Given the description of an element on the screen output the (x, y) to click on. 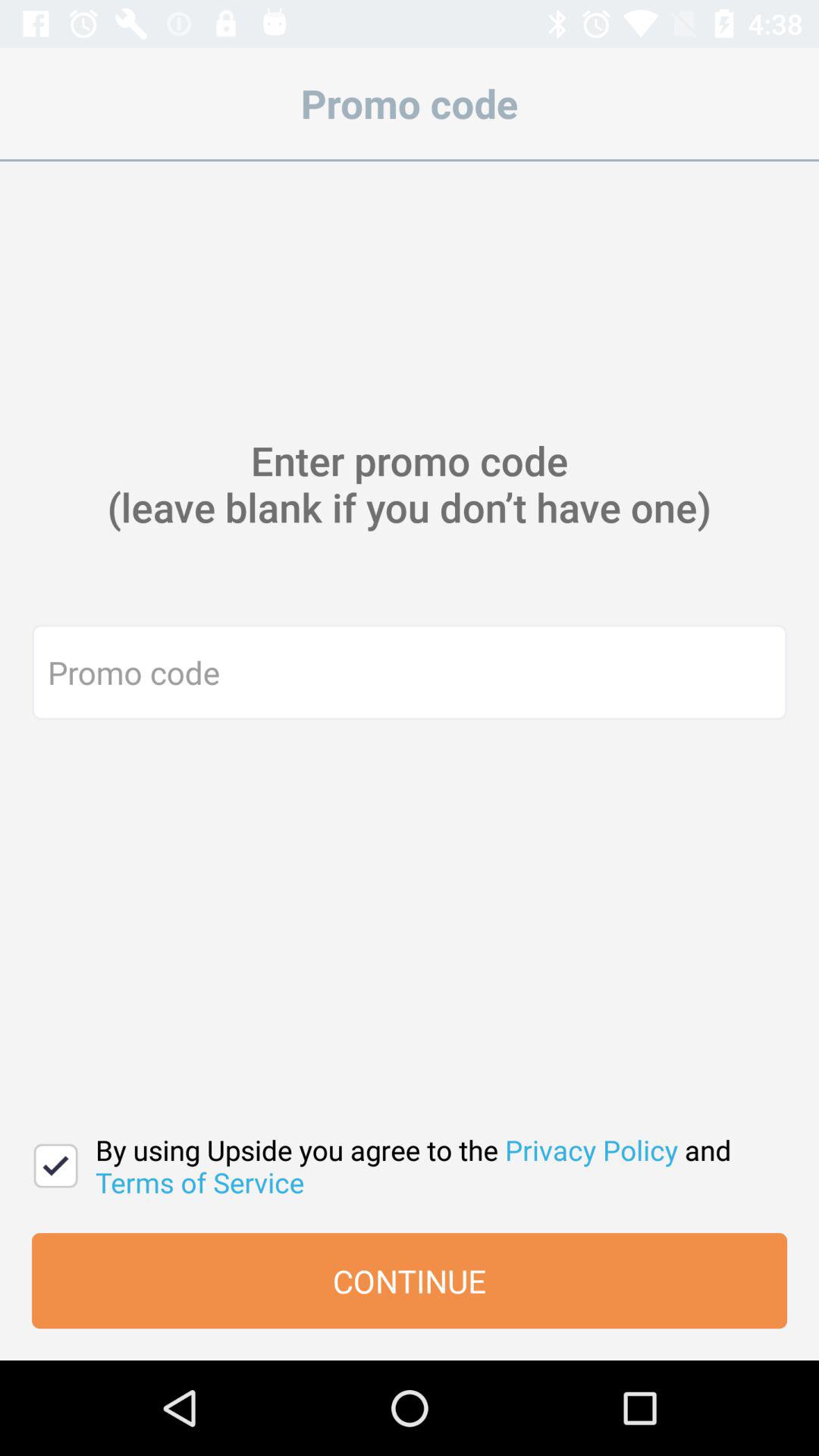
swipe to by using upside icon (433, 1166)
